Given the description of an element on the screen output the (x, y) to click on. 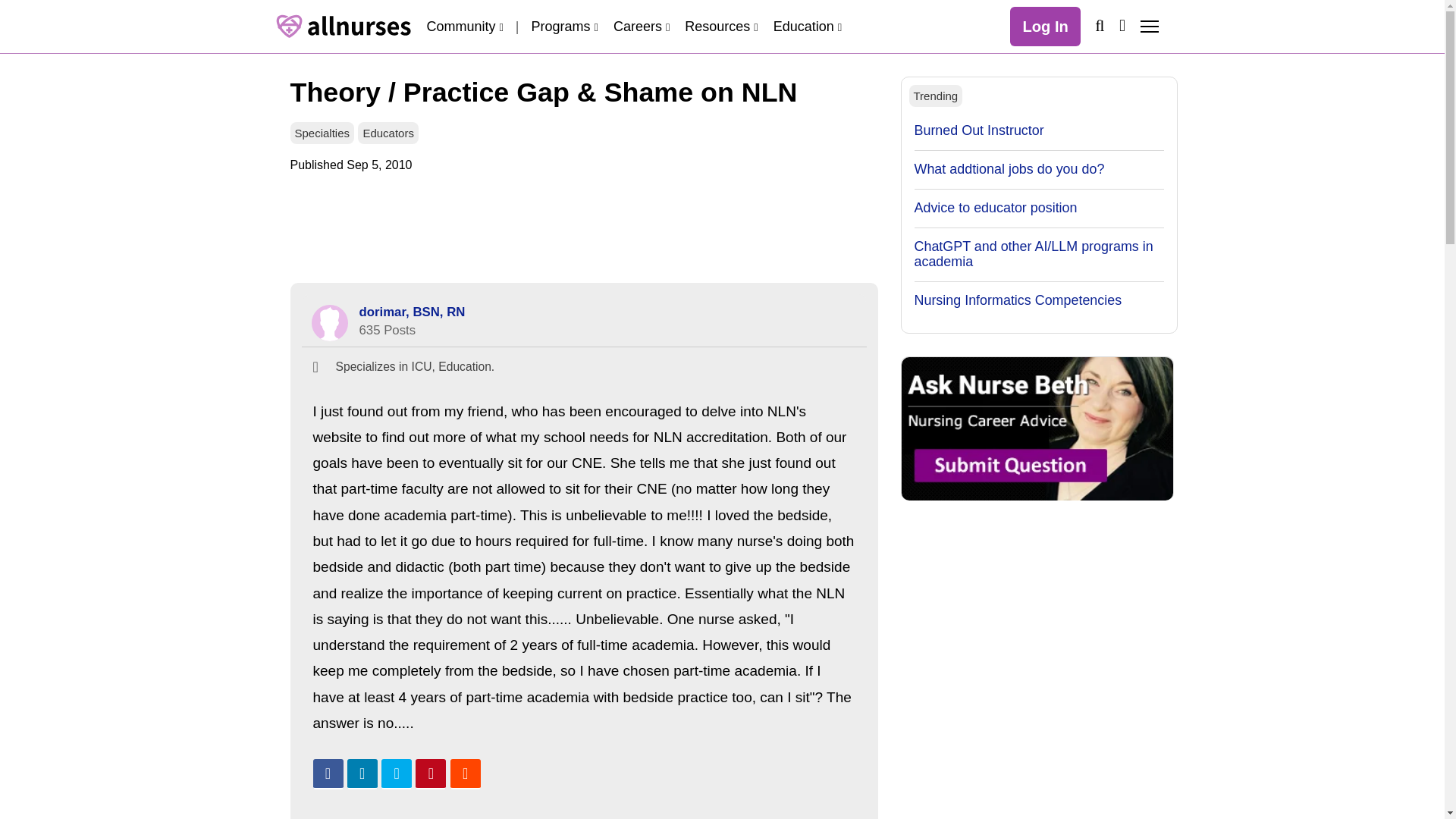
Share on Twitter (396, 774)
Go to dorimar's profile (329, 322)
Share on Reddit (464, 774)
Community (465, 26)
Discover Latest Content (1122, 25)
Go to dorimar's profile (412, 311)
Search (1098, 25)
Programs (564, 26)
Share on Pinterest (429, 774)
Share on LinkedIn (362, 774)
Share on Facebook (327, 774)
Up-to-date information on nursing programs in the U.S. (564, 26)
